Given the description of an element on the screen output the (x, y) to click on. 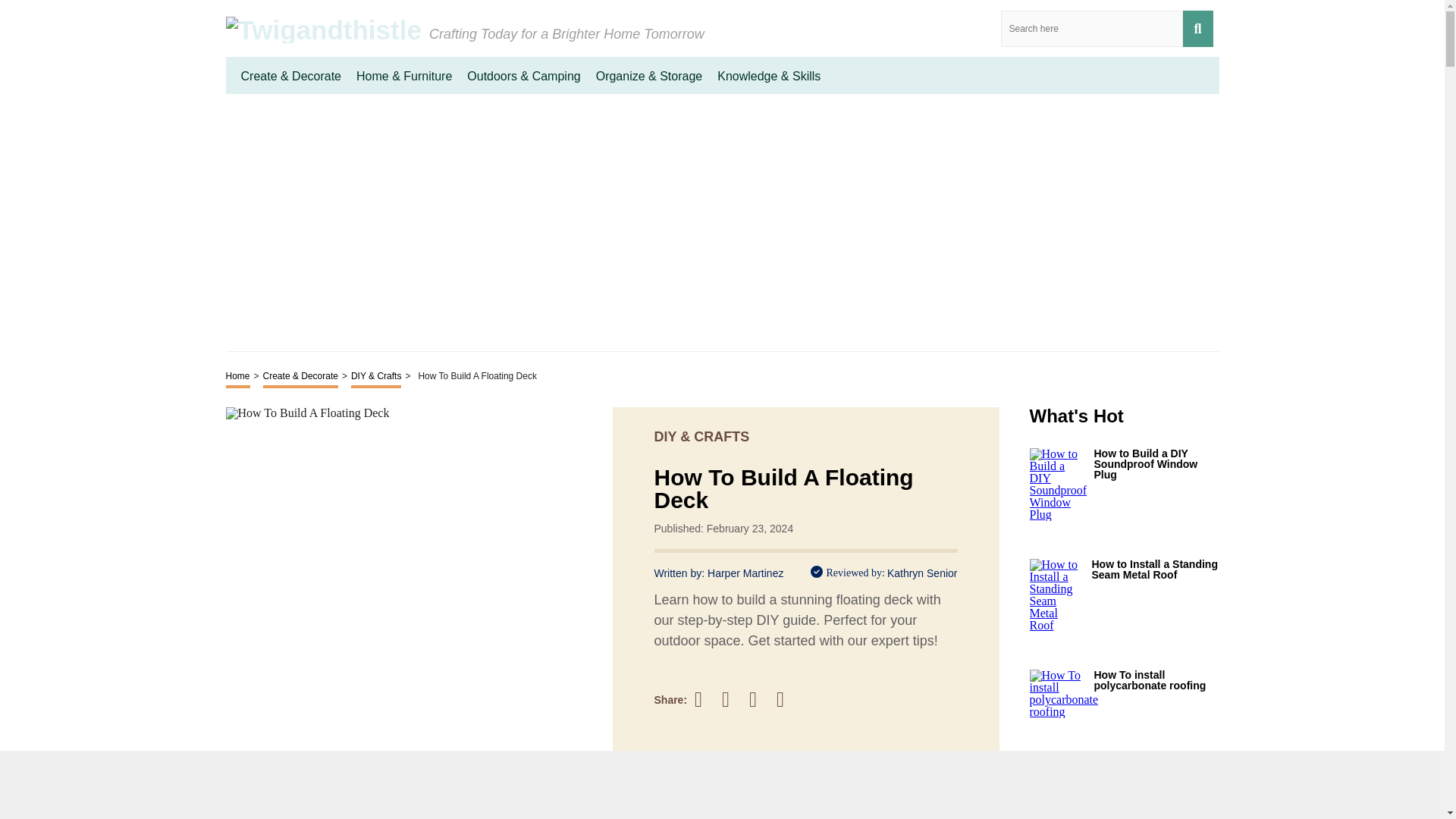
Share on WhatsApp (786, 699)
Share on Facebook (705, 699)
Share on Twitter (732, 699)
Share on Pinterest (759, 699)
